Given the description of an element on the screen output the (x, y) to click on. 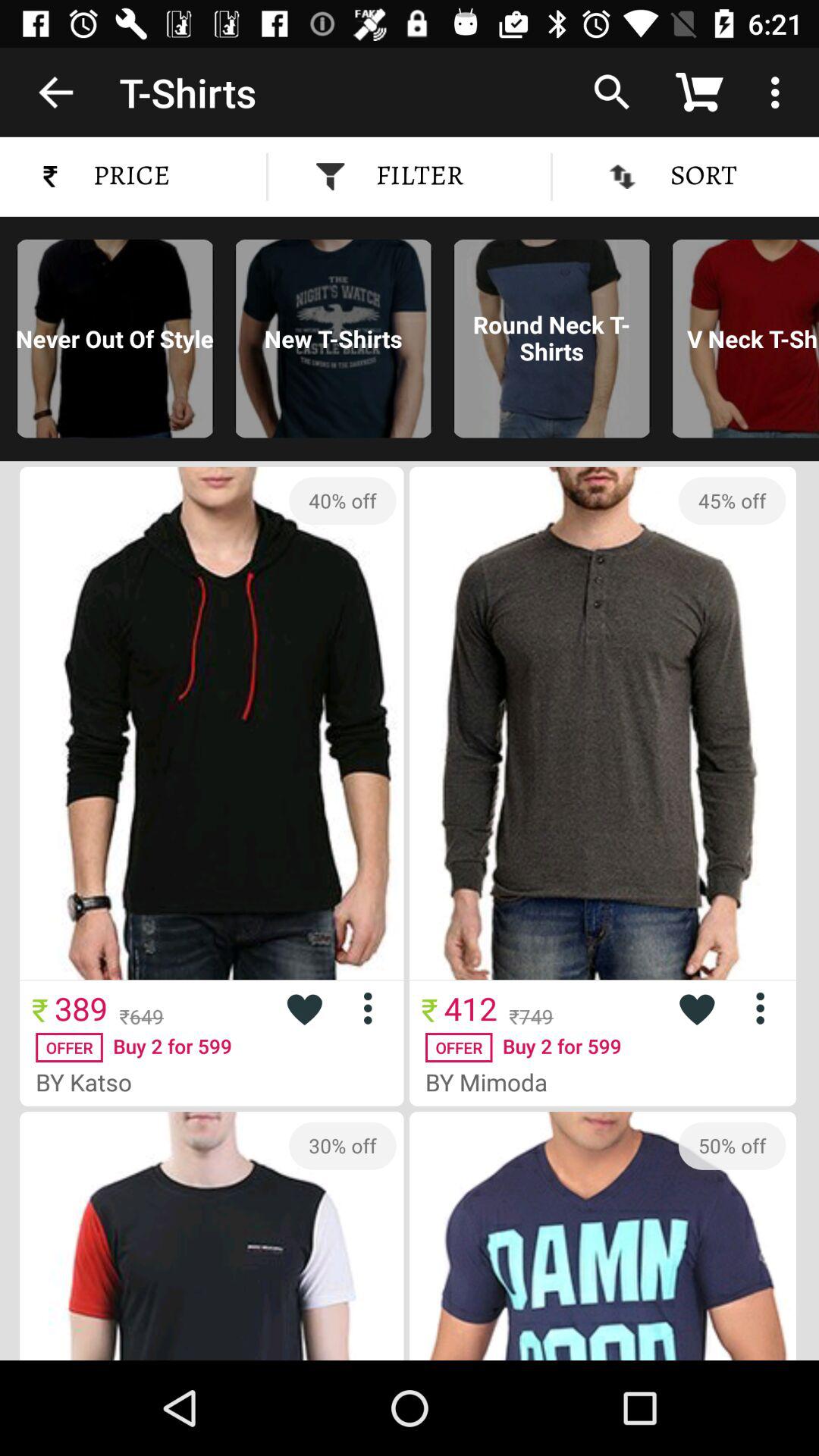
open item above sort icon (611, 92)
